Given the description of an element on the screen output the (x, y) to click on. 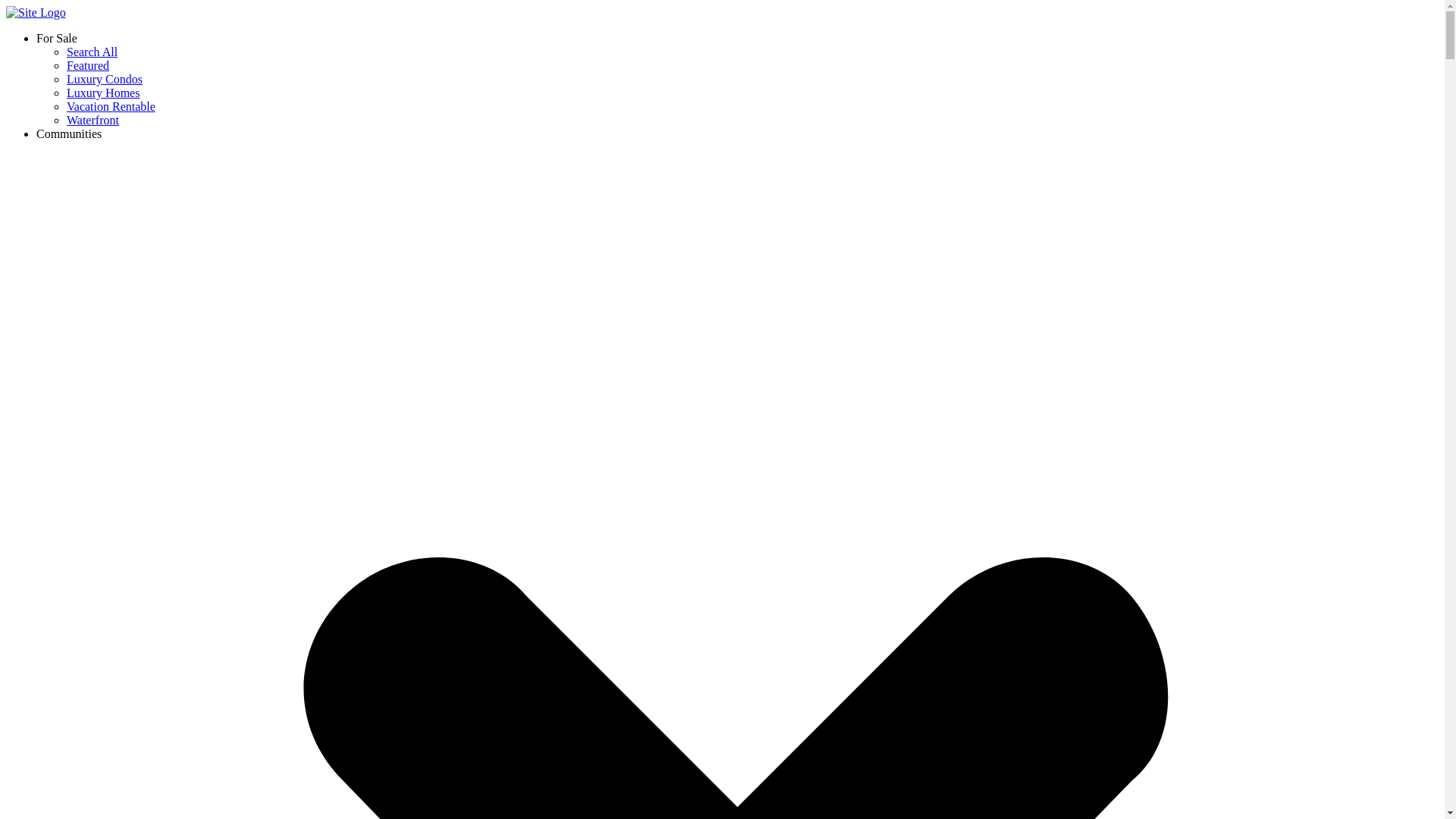
Site Logo (35, 12)
Search All (91, 51)
For Sale (56, 38)
Vacation Rentable (110, 106)
Featured (87, 65)
Luxury Condos (104, 78)
Waterfront (92, 119)
Luxury Homes (102, 92)
